Given the description of an element on the screen output the (x, y) to click on. 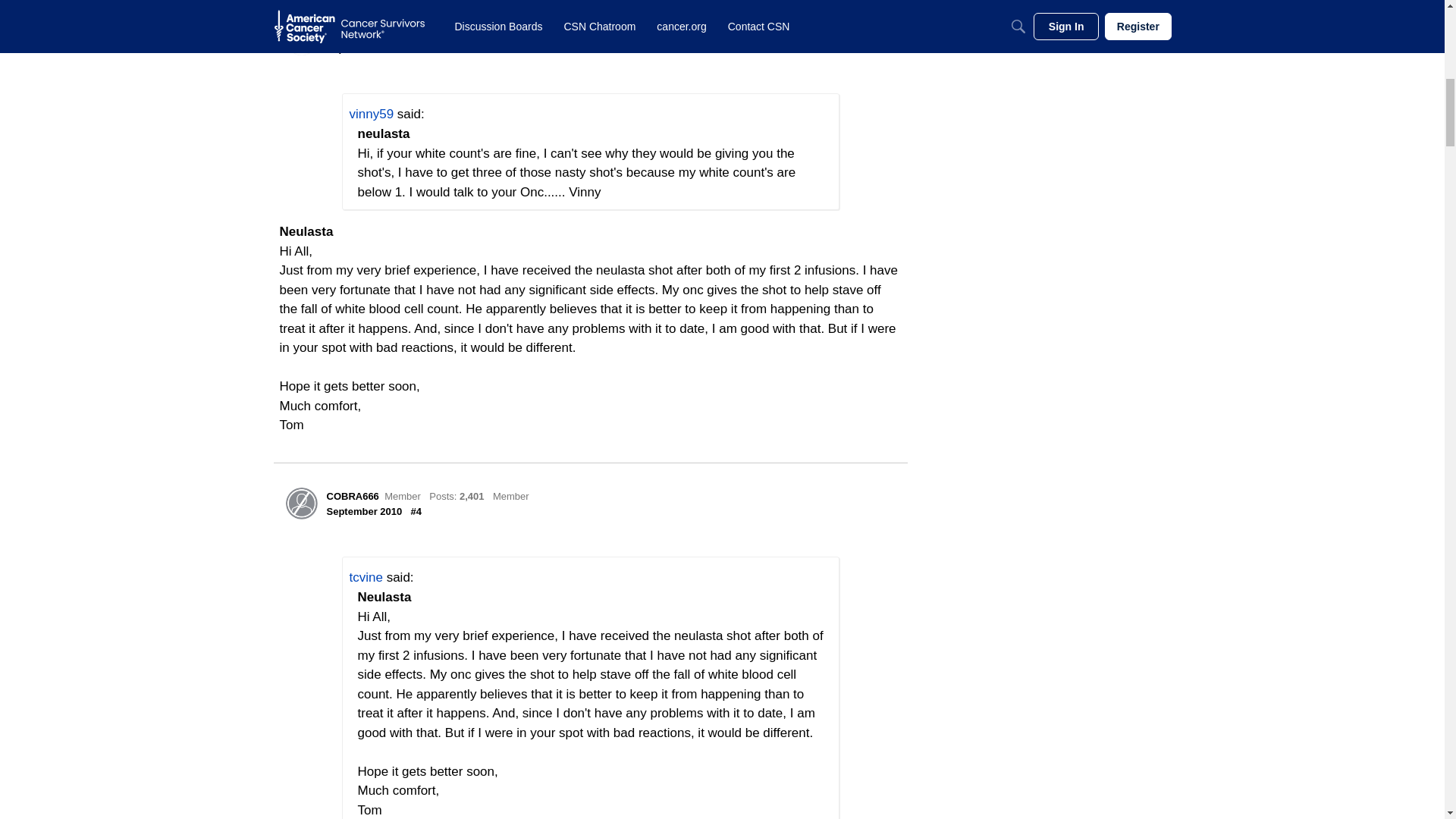
tcvine (340, 31)
September 19, 2010 1:39PM (363, 48)
September 2010 (363, 48)
September 19, 2010 2:22PM (363, 511)
Level 2 (511, 496)
tcvine (365, 577)
tcvine (301, 39)
September 2010 (363, 511)
COBRA666 (352, 496)
vinny59 (371, 114)
